Given the description of an element on the screen output the (x, y) to click on. 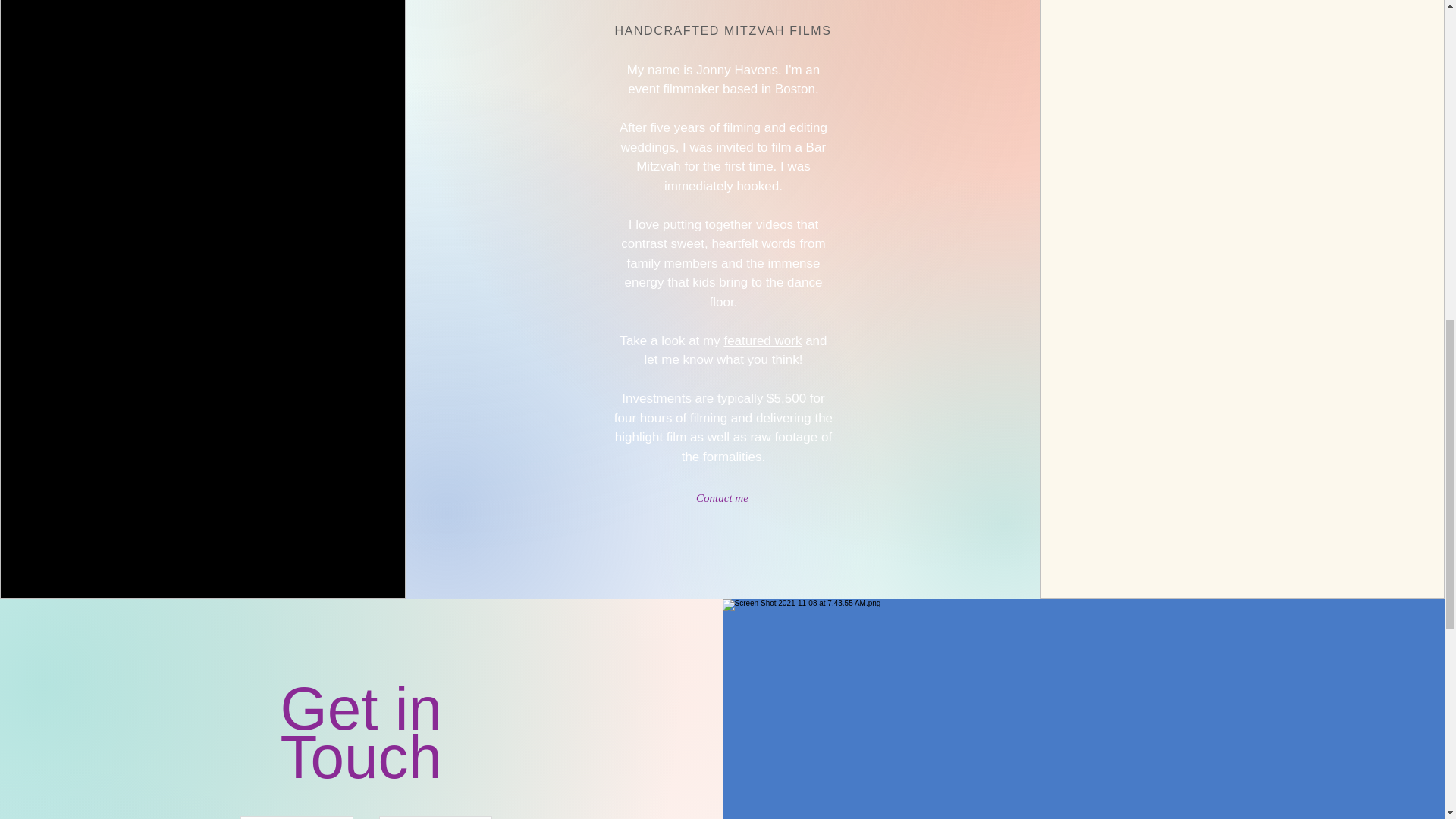
featured work (762, 340)
Contact me (722, 497)
